Given the description of an element on the screen output the (x, y) to click on. 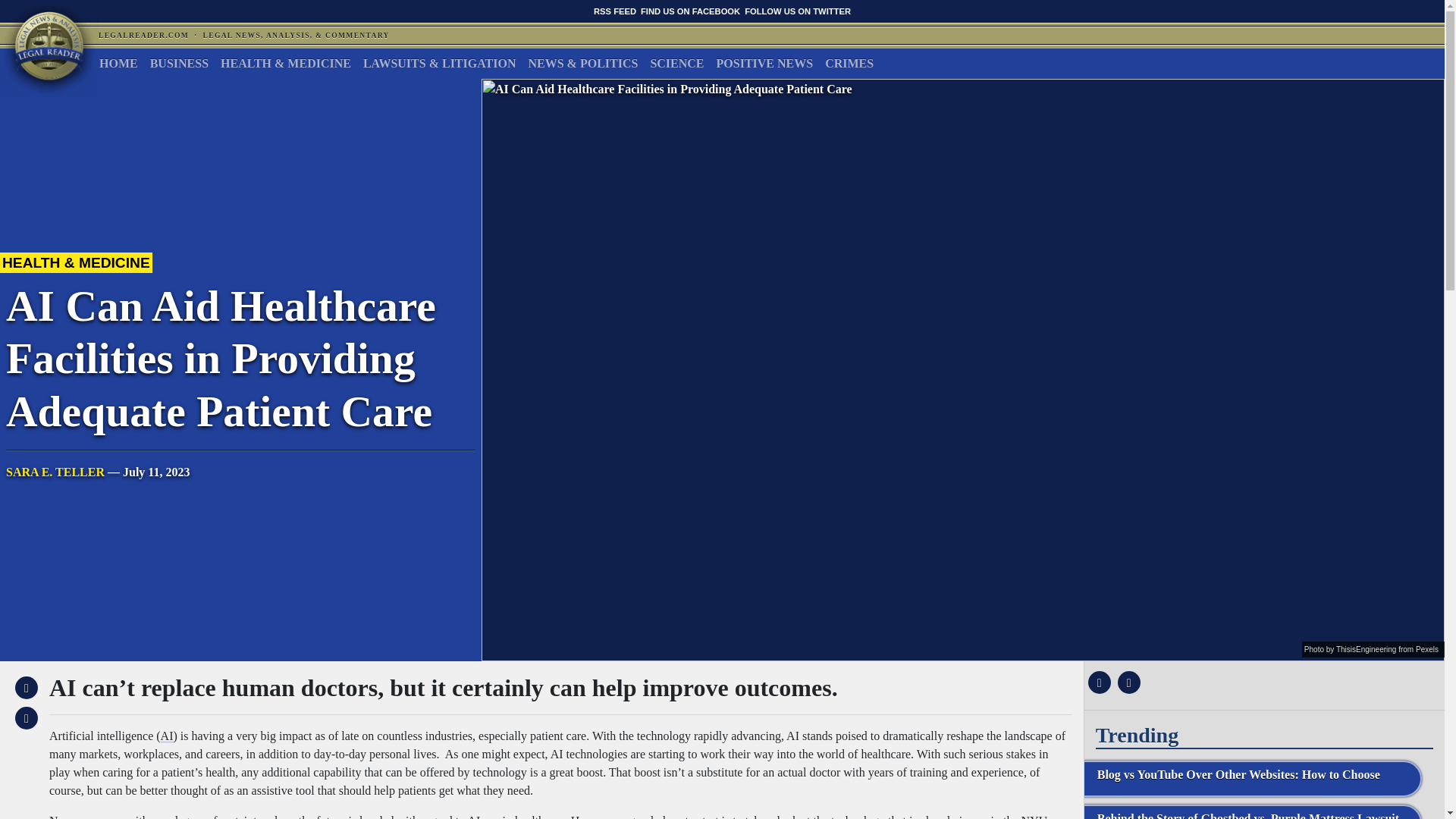
Share on facebook (1097, 682)
POSITIVE NEWS (764, 63)
HOME (118, 63)
FOLLOW US ON TWITTER (797, 10)
Share on twitter (1126, 682)
BUSINESS (179, 63)
Find Legal Reader on Facebook (689, 10)
Business (179, 63)
SARA E. TELLER (54, 472)
Follow Legal Reader on Twitter (797, 10)
